Given the description of an element on the screen output the (x, y) to click on. 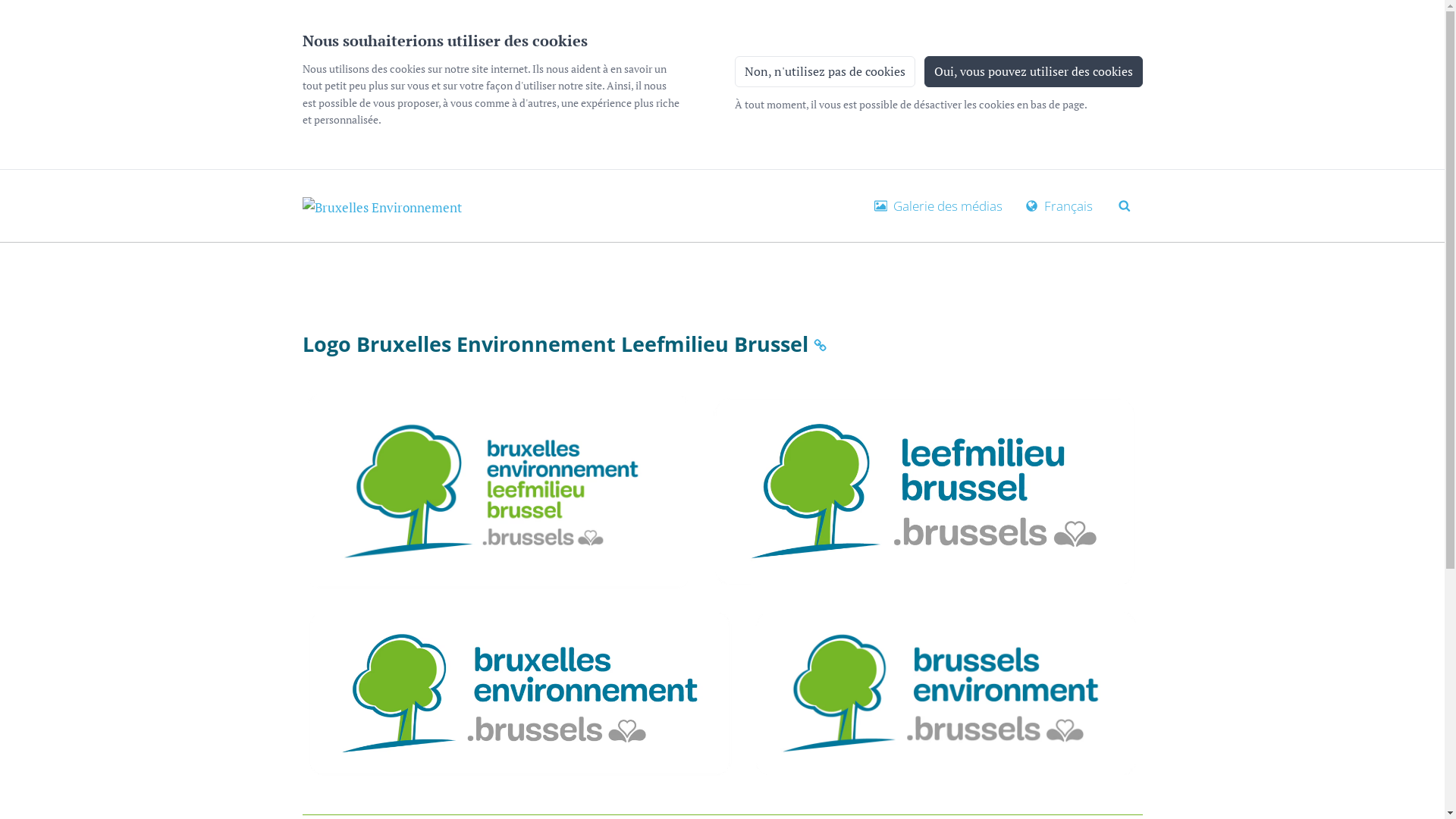
Oui, vous pouvez utiliser des cookies Element type: text (1032, 71)
Bruxelles Environnement Element type: hover (381, 205)
Non, n'utilisez pas de cookies Element type: text (824, 71)
Logo Bruxelles Environnement Leefmilieu Brussel Element type: hover (819, 346)
Skip to Content Element type: text (301, 171)
Rechercher dans la salle de presse Element type: hover (1124, 203)
